Given the description of an element on the screen output the (x, y) to click on. 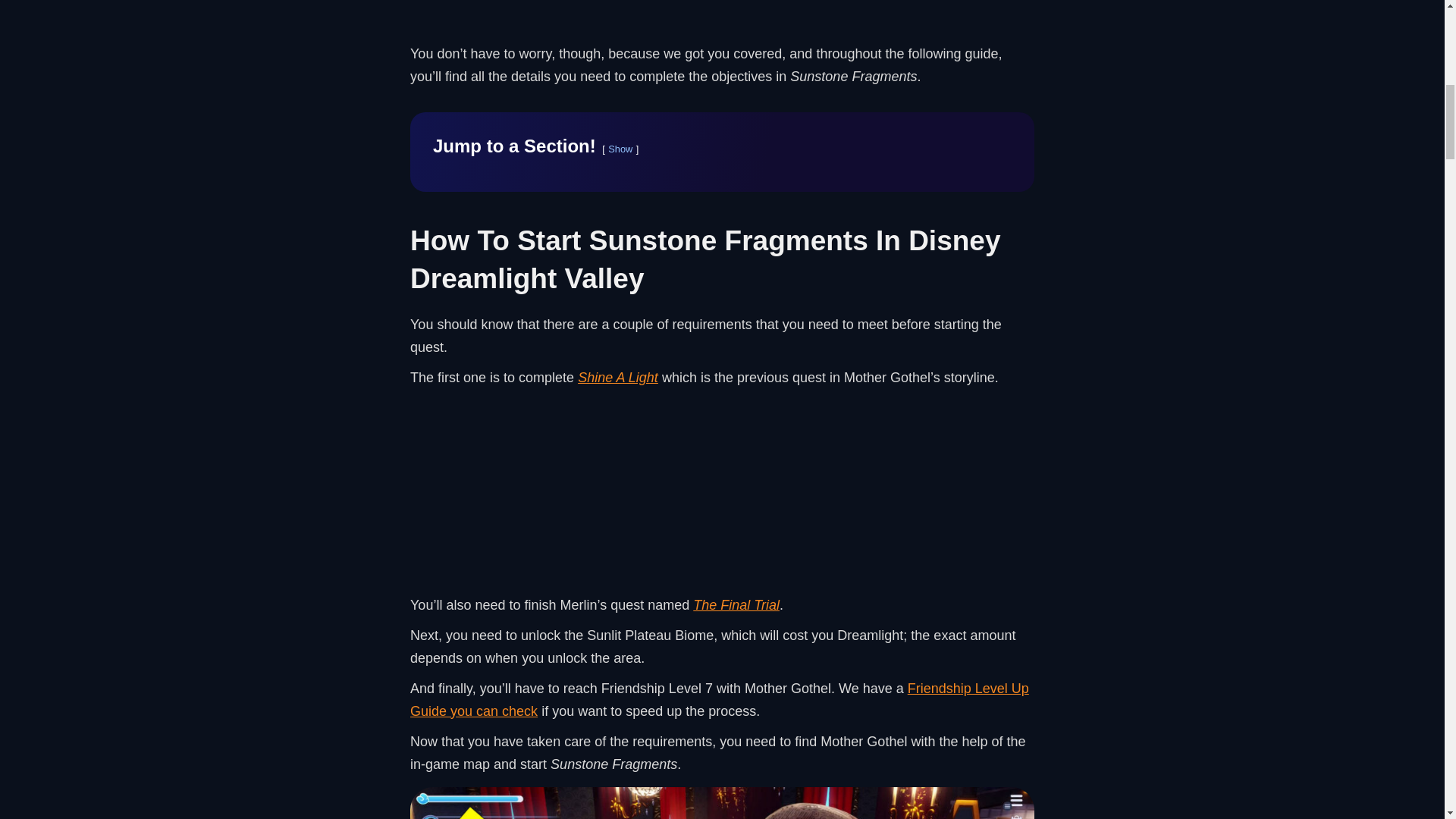
Shine A Light (618, 377)
The Final Trial (735, 604)
Show (619, 148)
Friendship Level Up Guide you can check (719, 699)
